Given the description of an element on the screen output the (x, y) to click on. 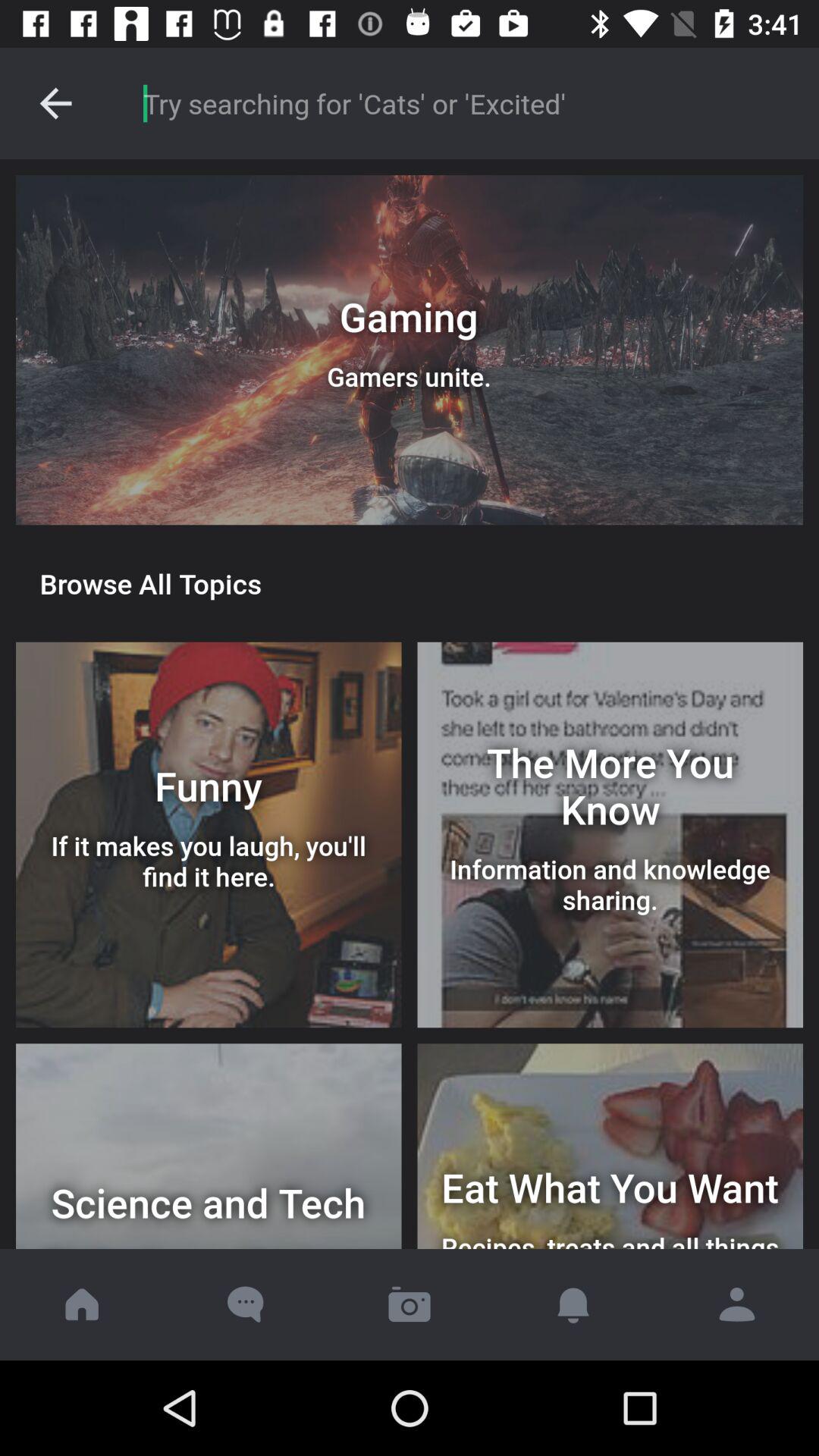
type search word (465, 103)
